Given the description of an element on the screen output the (x, y) to click on. 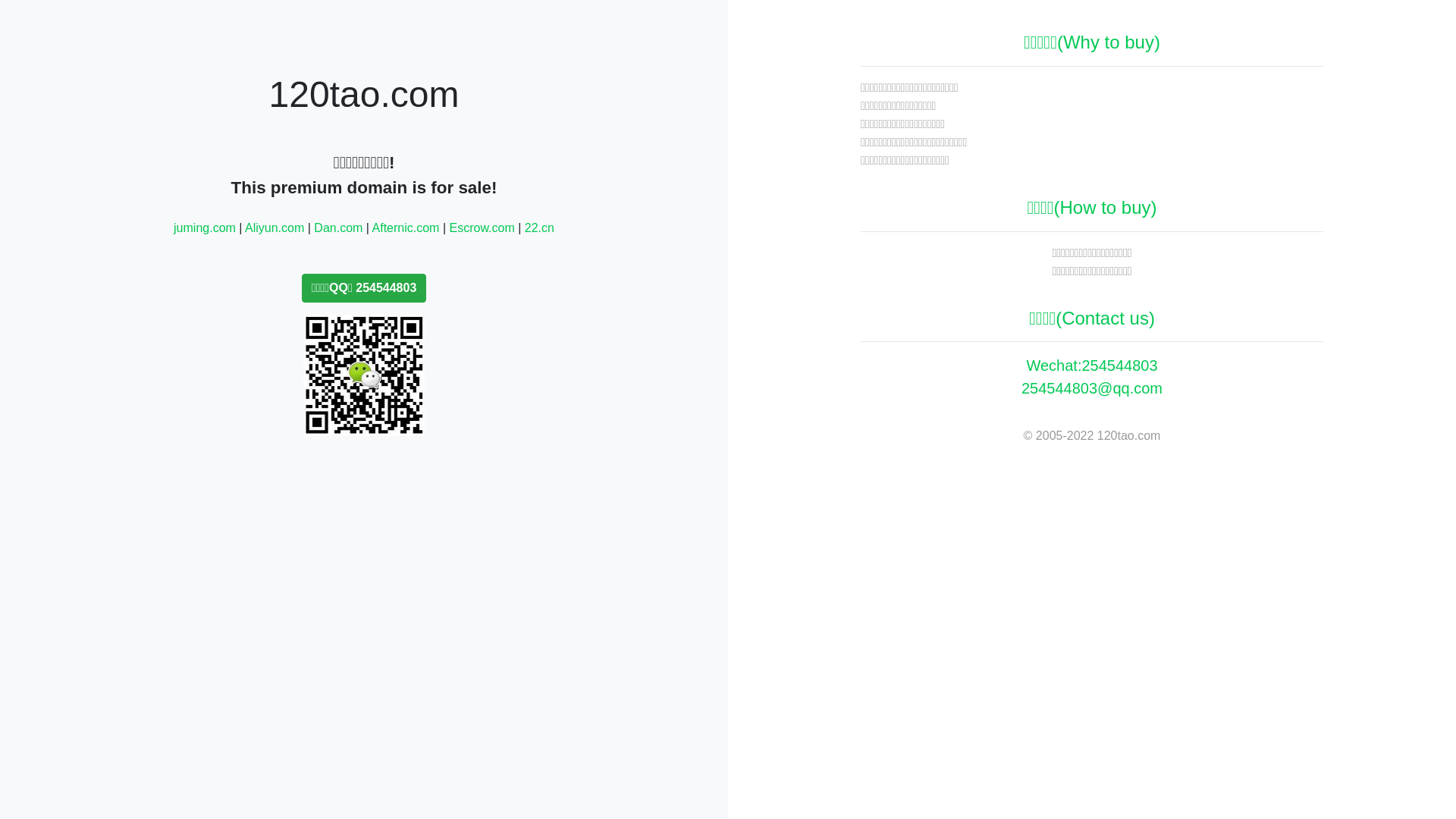
Afternic.com Element type: text (405, 227)
22.cn Element type: text (539, 227)
Escrow.com Element type: text (481, 227)
254544803@qq.com Element type: text (1091, 387)
juming.com Element type: text (204, 227)
Aliyun.com Element type: text (274, 227)
Dan.com Element type: text (337, 227)
